Given the description of an element on the screen output the (x, y) to click on. 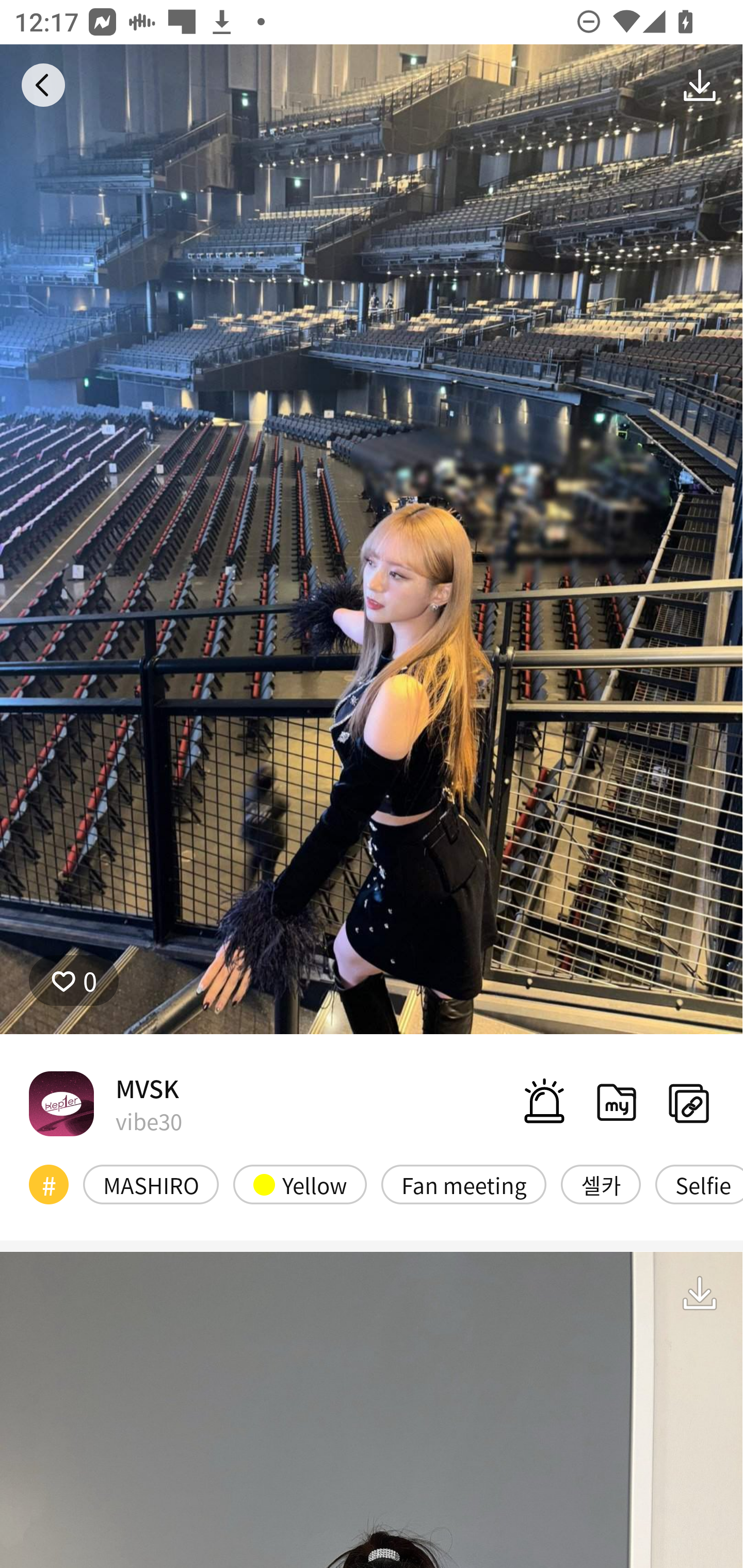
0 (73, 980)
MVSK vibe30 (105, 1102)
MASHIRO (150, 1184)
Yellow (300, 1184)
Fan meeting (463, 1184)
셀카 (600, 1184)
Selfie (699, 1184)
